Given the description of an element on the screen output the (x, y) to click on. 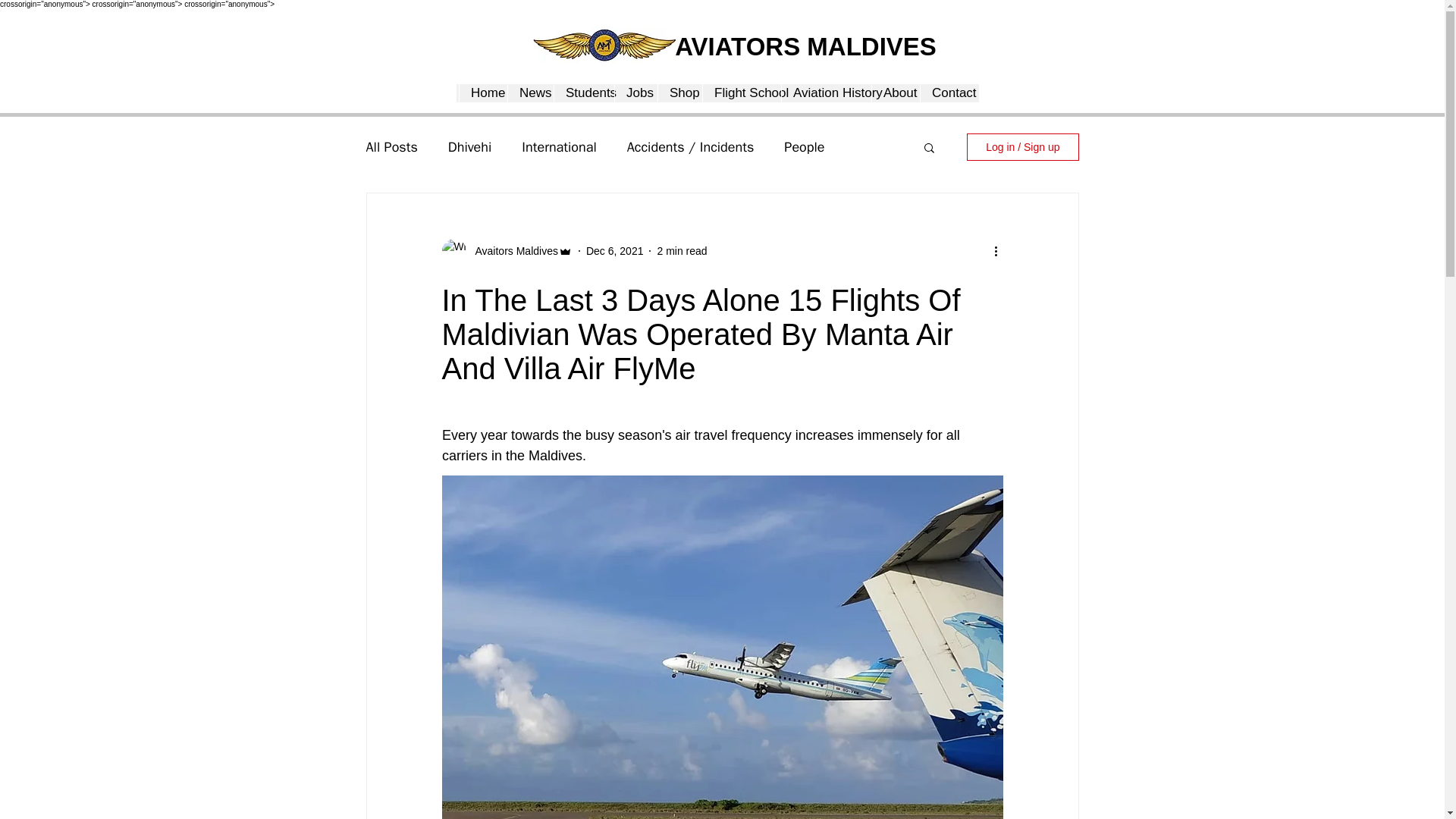
Jobs (636, 93)
About (895, 93)
All Posts (390, 147)
Contact (947, 93)
AVIATORS MALDIVES (805, 46)
International (558, 147)
Flight School (740, 93)
Avaitors Maldives (511, 250)
People (804, 147)
2 min read (681, 250)
Students (583, 93)
Dhivehi (470, 147)
News (529, 93)
Aviation History (825, 93)
Home (482, 93)
